Given the description of an element on the screen output the (x, y) to click on. 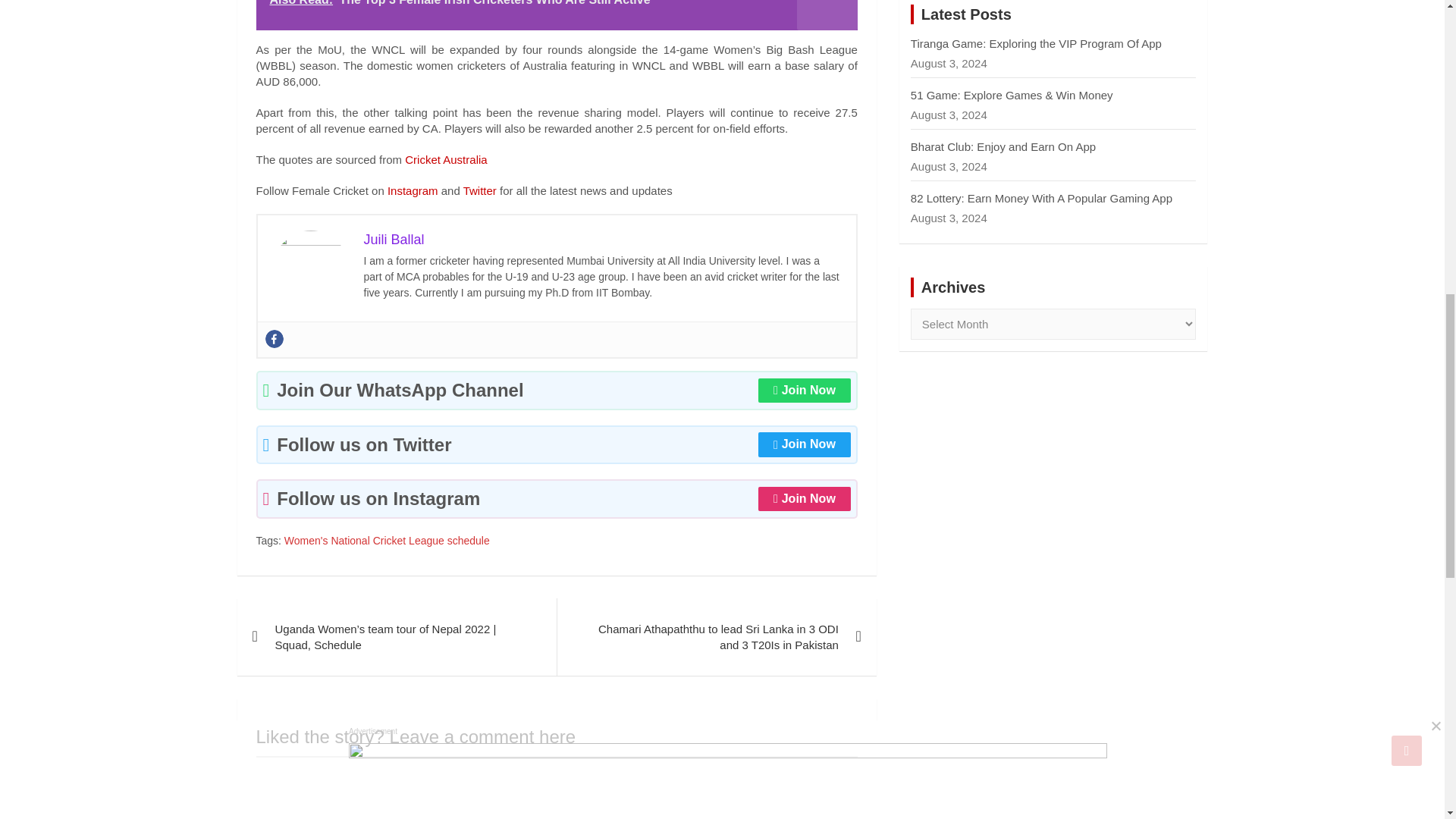
Facebook (273, 339)
